Given the description of an element on the screen output the (x, y) to click on. 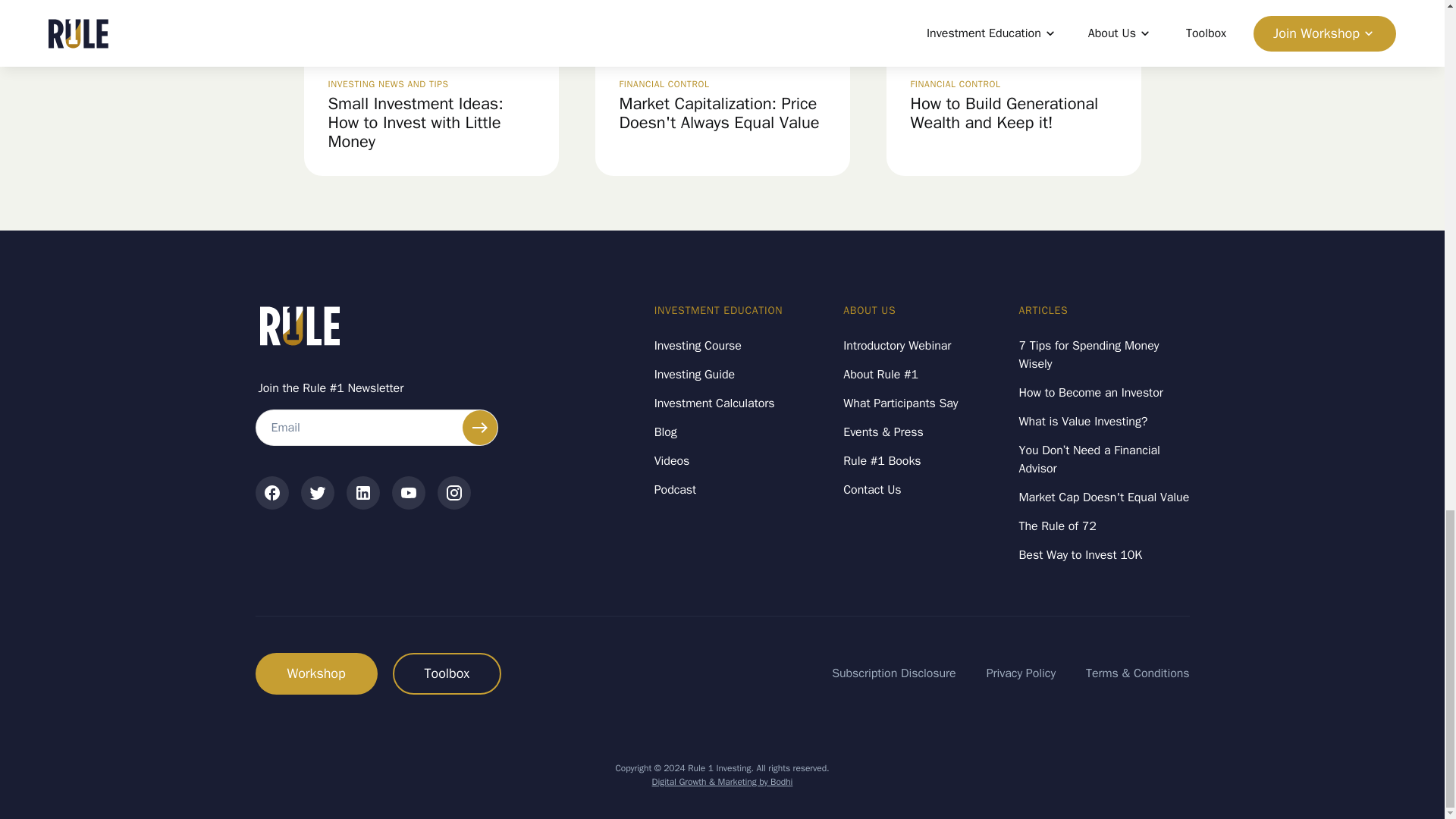
What is Value Investing? (1083, 421)
Investing Course (697, 345)
7 Tips for Spending Money Wisely (1104, 354)
Investing Guide (694, 374)
Investment Calculators (713, 403)
Podcast (674, 489)
Videos (671, 460)
Best Way to Invest 10K (1080, 554)
